Given the description of an element on the screen output the (x, y) to click on. 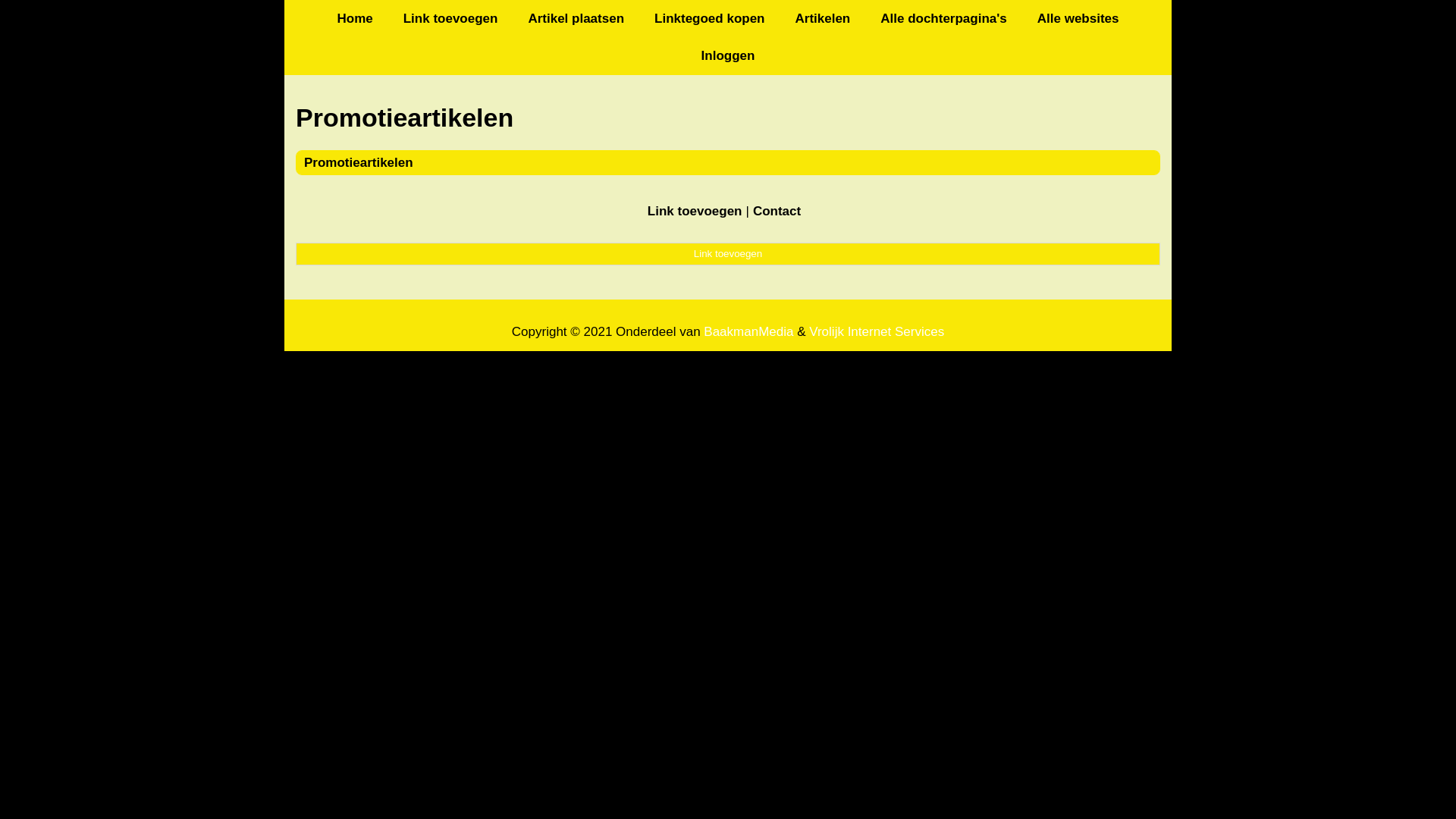
Contact Element type: text (776, 210)
Link toevoegen Element type: text (450, 18)
Inloggen Element type: text (728, 55)
Promotieartikelen Element type: text (727, 117)
Artikel plaatsen Element type: text (575, 18)
Vrolijk Internet Services Element type: text (876, 331)
Home Element type: text (354, 18)
Alle dochterpagina's Element type: text (943, 18)
Link toevoegen Element type: text (727, 253)
Alle websites Element type: text (1078, 18)
Link toevoegen Element type: text (694, 210)
Promotieartikelen Element type: text (358, 162)
Linktegoed kopen Element type: text (709, 18)
BaakmanMedia Element type: text (748, 331)
Artikelen Element type: text (822, 18)
